Given the description of an element on the screen output the (x, y) to click on. 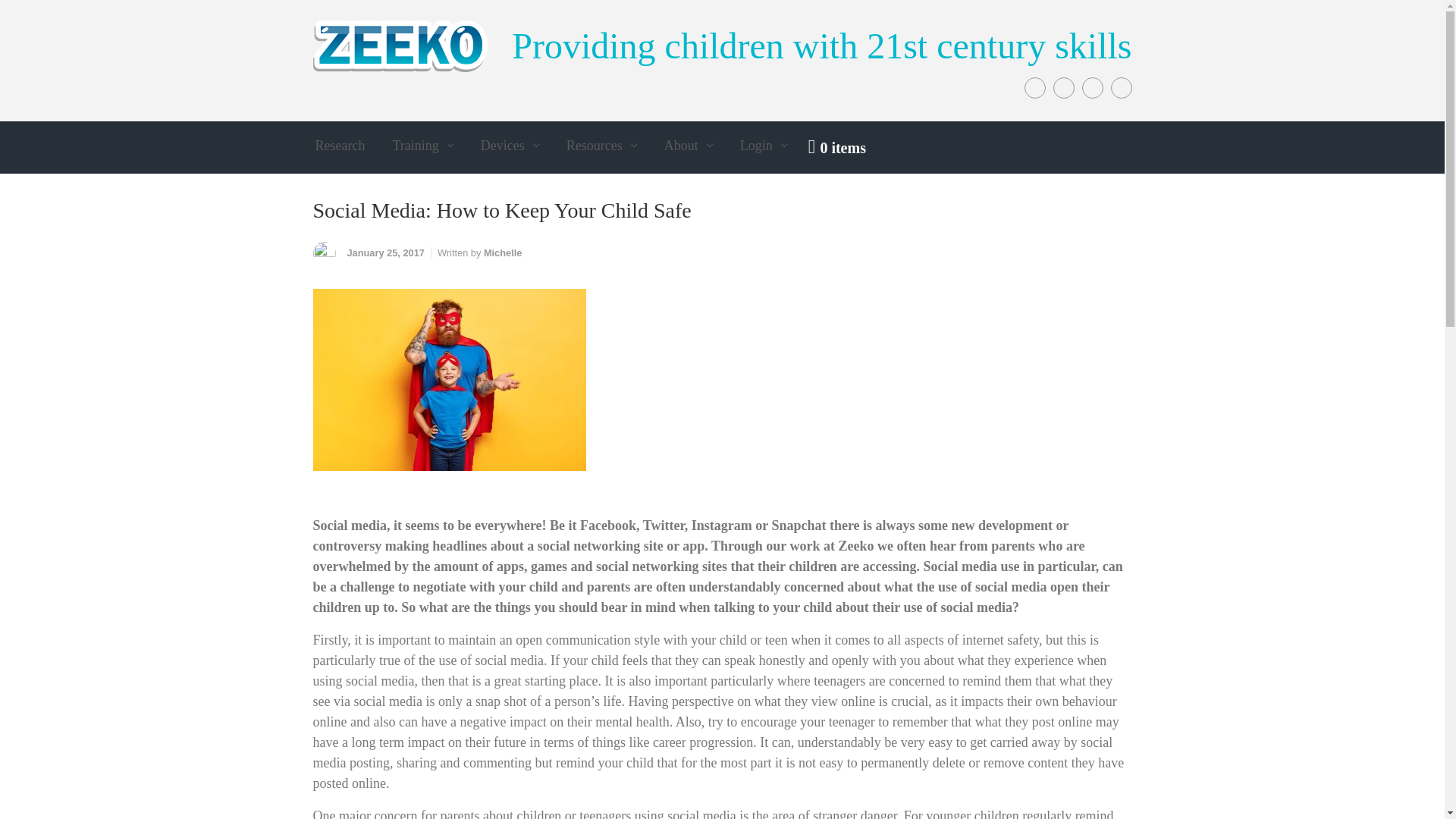
Skip to main content (18, 10)
Twitter (1063, 87)
Devices (509, 145)
Facebook (1034, 87)
LinkedIn (1120, 87)
Training (421, 145)
Research (339, 145)
YouTube (1091, 87)
View all posts by Michelle (502, 252)
Resources (601, 145)
